Given the description of an element on the screen output the (x, y) to click on. 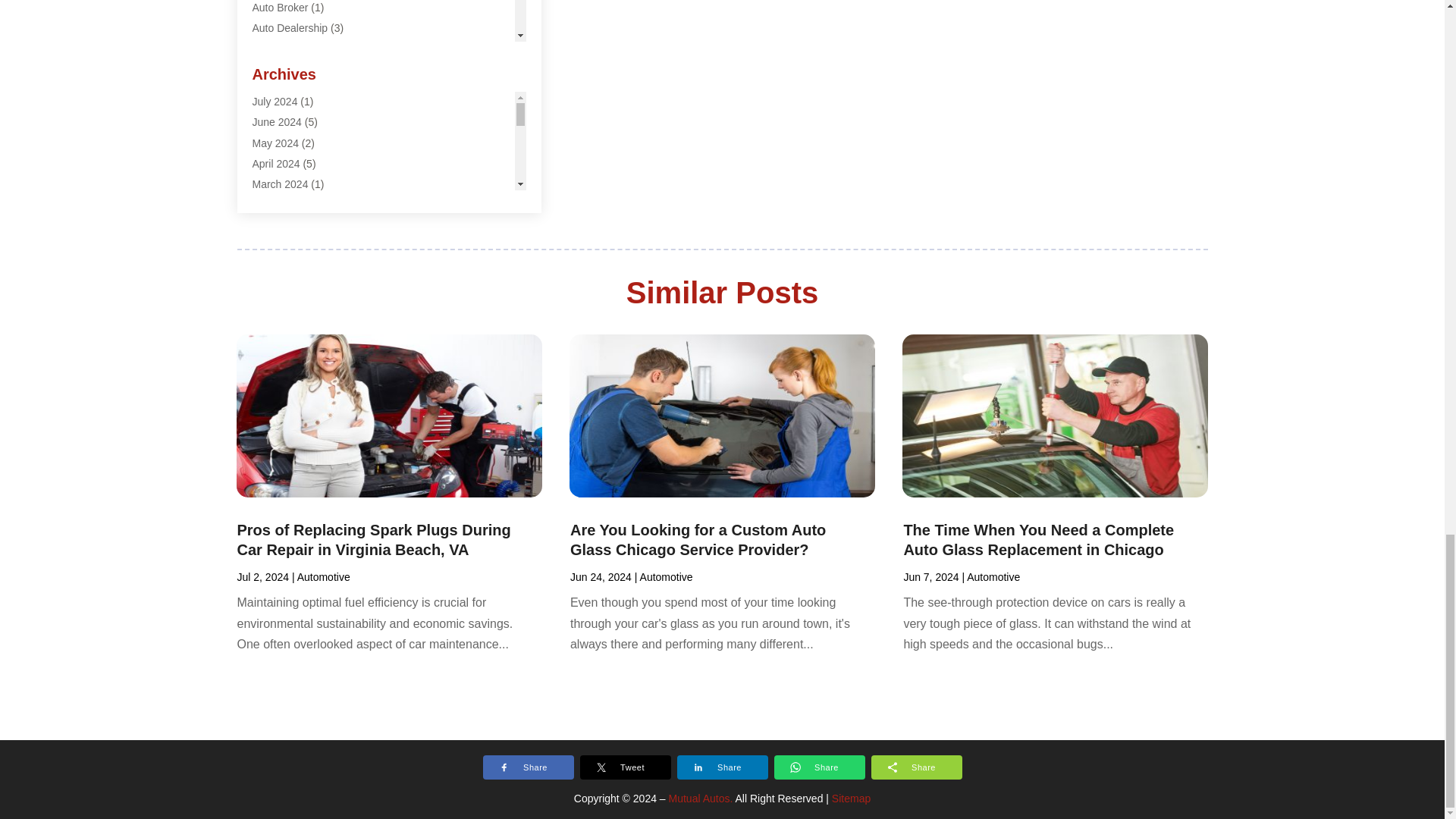
Auto Broker (279, 7)
Auto Glass (276, 48)
Auto Dealership (289, 28)
